Given the description of an element on the screen output the (x, y) to click on. 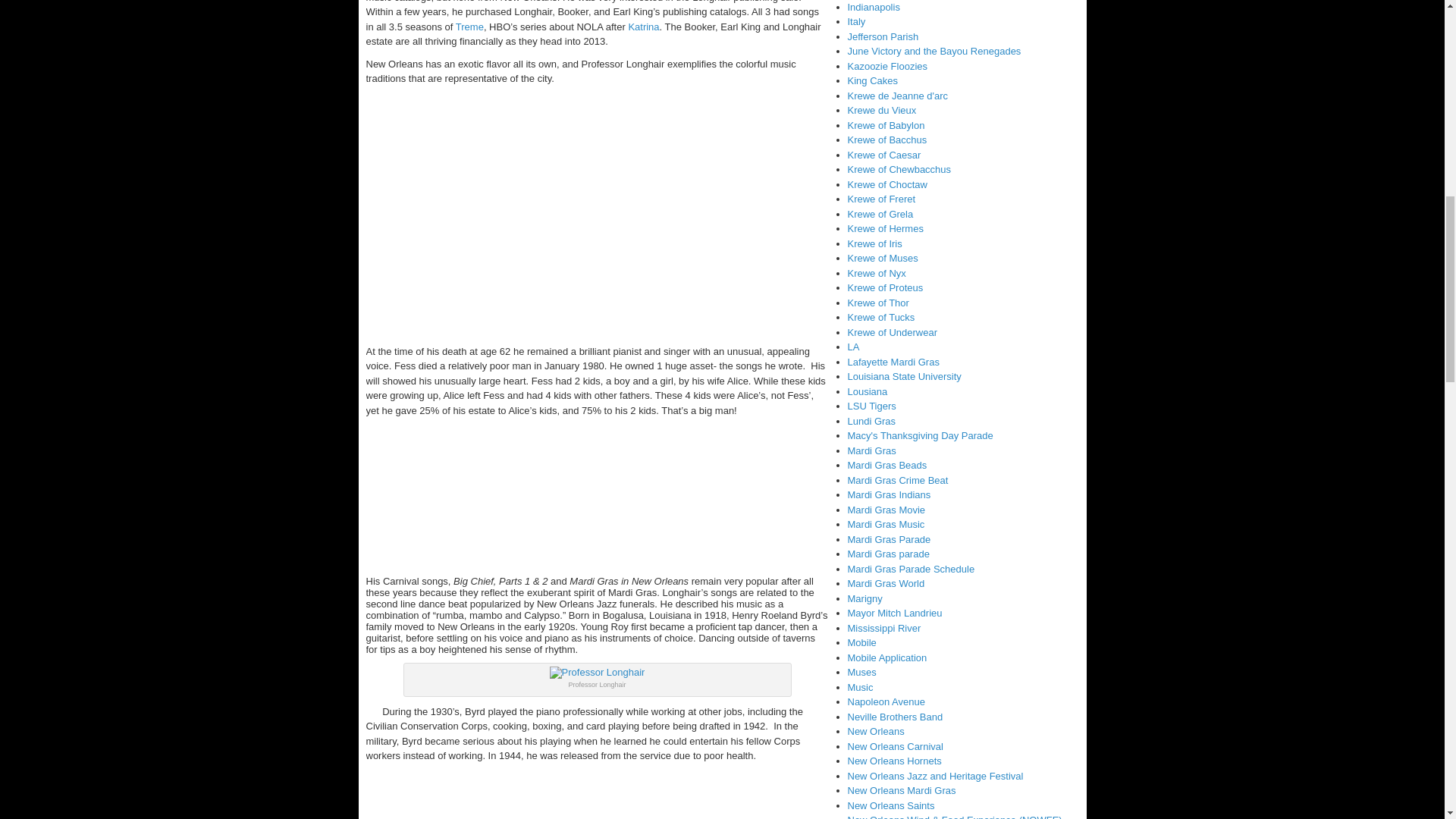
Katrina (642, 26)
Katrina (642, 26)
Treme (467, 26)
Advertisement (641, 539)
Professor Longhair (597, 672)
Treme (467, 26)
